Given the description of an element on the screen output the (x, y) to click on. 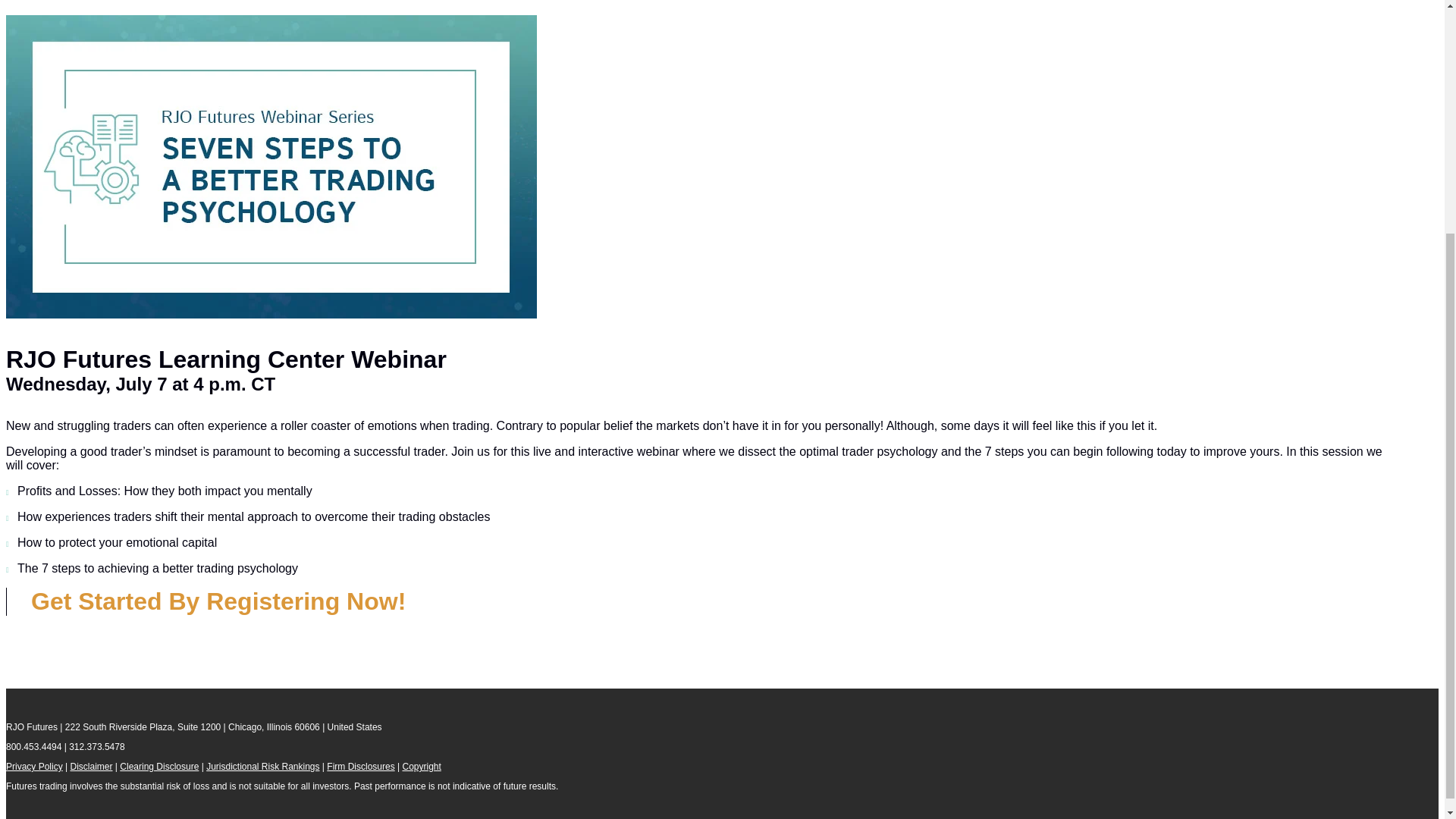
Disclaimer (90, 766)
Firm Disclosures (360, 766)
Copyright (421, 766)
Jurisdictional Risk Rankings (262, 766)
Clearing Disclosure (158, 766)
Privacy Policy (33, 766)
